Given the description of an element on the screen output the (x, y) to click on. 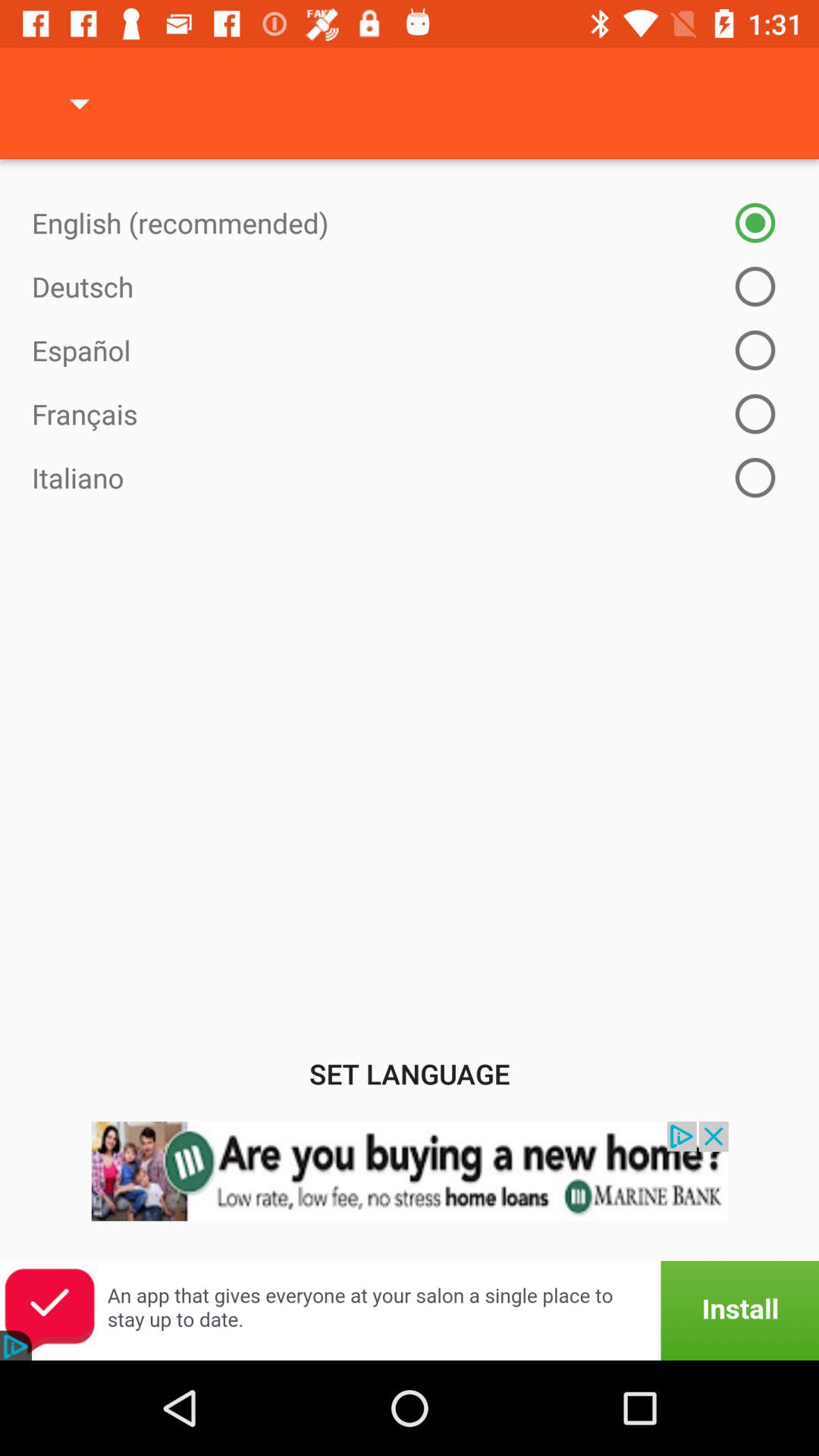
advertiesment (409, 1190)
